Given the description of an element on the screen output the (x, y) to click on. 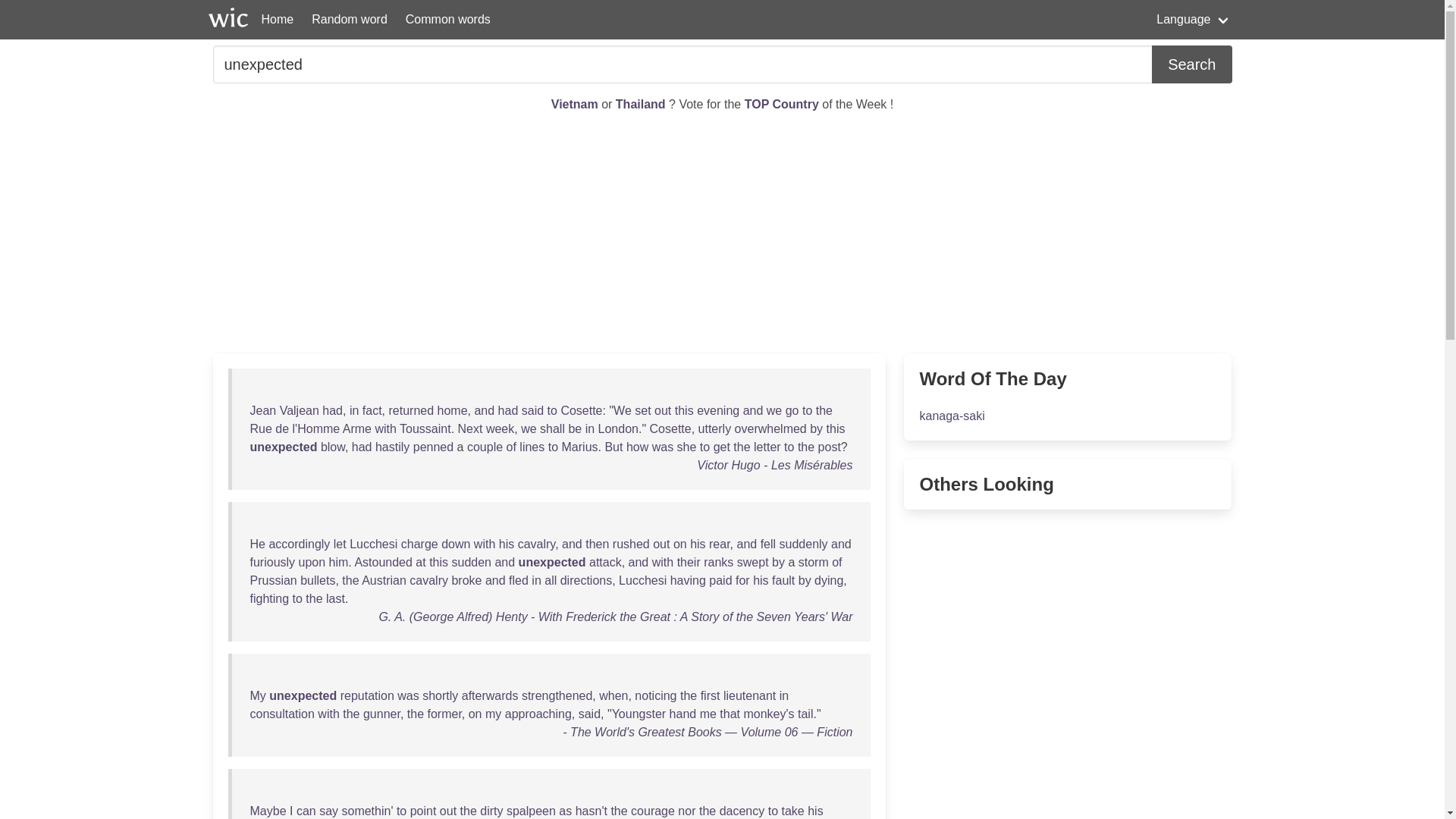
unexpected (682, 64)
Valjean (298, 410)
Click to find the word in context (263, 410)
Click to find the word in context (774, 410)
Home (276, 19)
and (484, 410)
home (452, 410)
Vietnam (576, 103)
Click to find the word in context (371, 410)
